Given the description of an element on the screen output the (x, y) to click on. 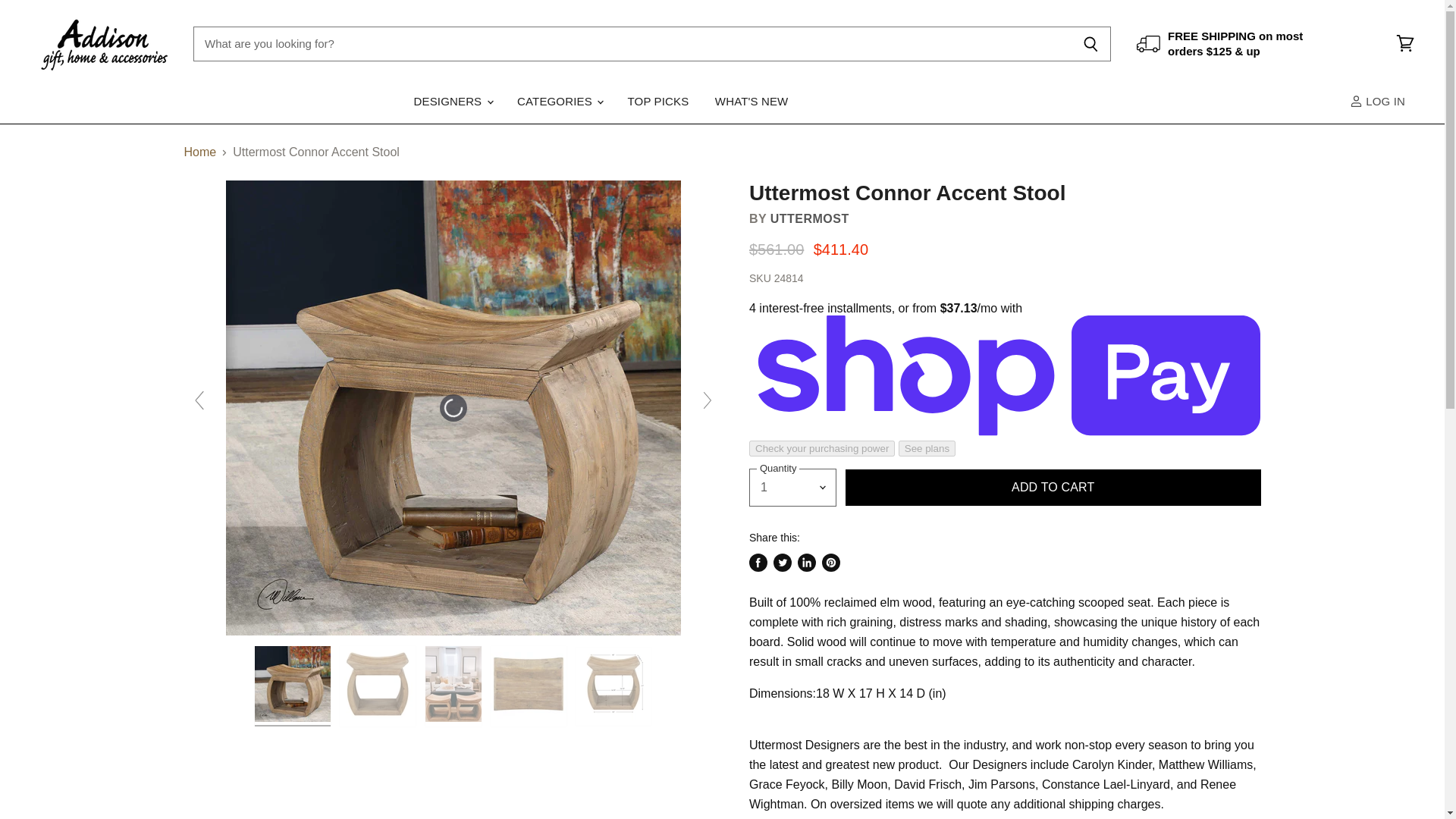
Delivery icon (1148, 43)
Uttermost Furniture Uttermost Connor Accent Stool (528, 686)
ACCOUNT ICON (1355, 101)
Uttermost Furniture Uttermost Connor Accent Stool (376, 686)
Uttermost (809, 218)
Uttermost Furniture Uttermost Connor Accent Stool (612, 686)
Uttermost Furniture Uttermost Connor Accent Stool (292, 686)
